Given the description of an element on the screen output the (x, y) to click on. 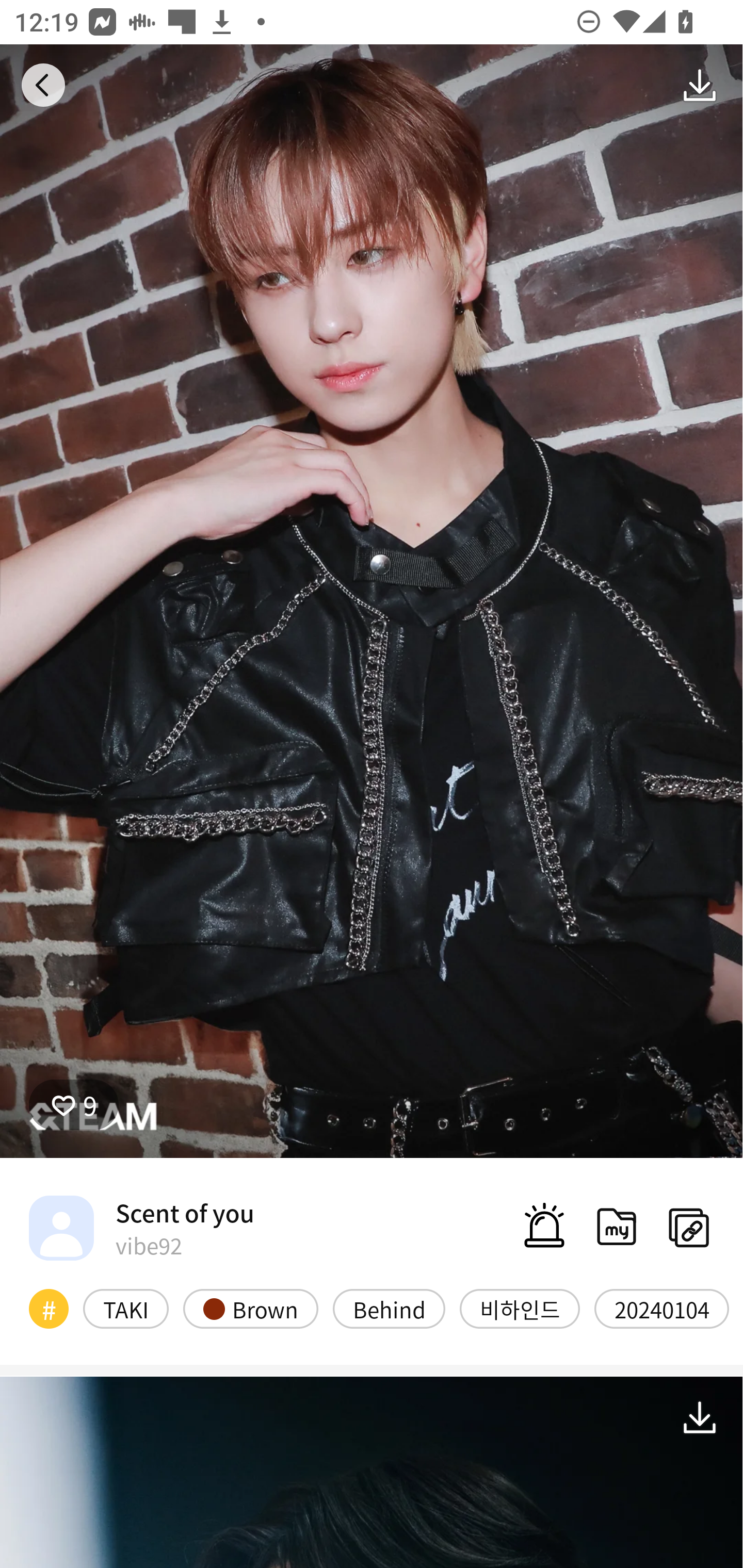
9 (73, 1104)
Scent of you vibe92 (141, 1227)
TAKI (125, 1308)
Brown (250, 1308)
Behind (388, 1308)
비하인드 (519, 1308)
20240104 (661, 1308)
